Given the description of an element on the screen output the (x, y) to click on. 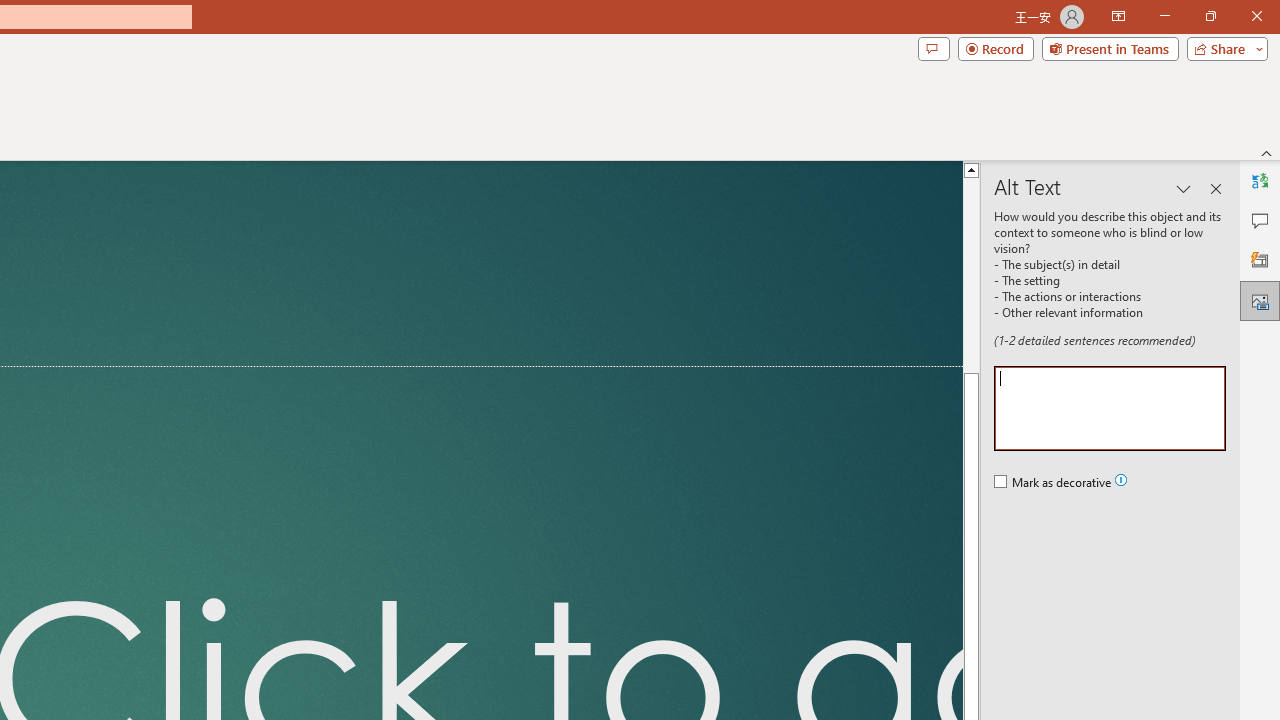
Description (1110, 408)
Mark as decorative (1054, 483)
